Given the description of an element on the screen output the (x, y) to click on. 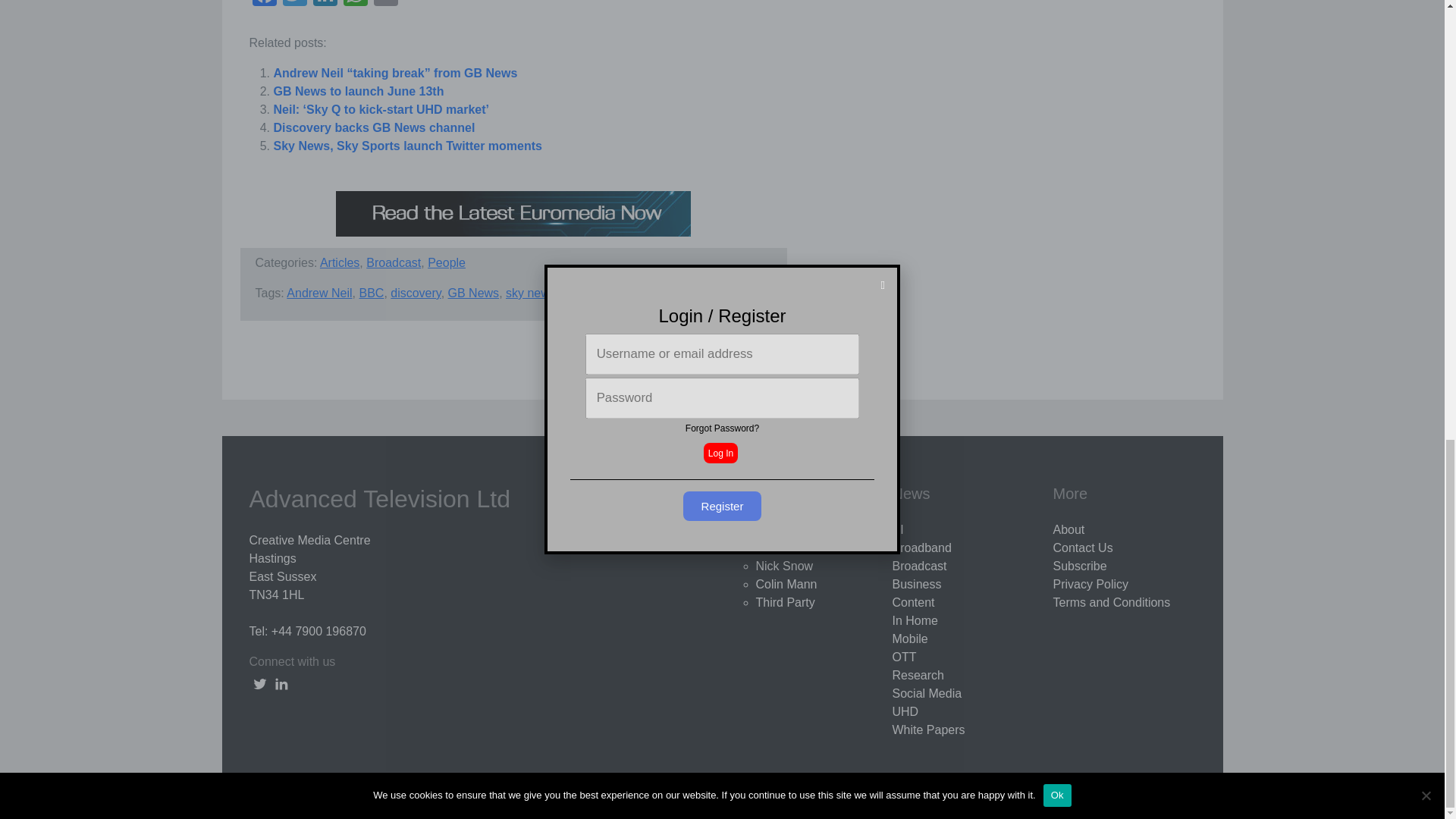
Twitter (293, 4)
Articles (339, 262)
sky news (530, 292)
BBC (371, 292)
People (446, 262)
GB News to launch June 13th (358, 91)
Email (384, 4)
LinkedIn (323, 4)
Twitter (293, 4)
discovery (415, 292)
LinkedIn (323, 4)
Discovery backs GB News channel (373, 127)
Andrew Neil (319, 292)
Sky News, Sky Sports launch Twitter moments (407, 145)
Facebook (263, 4)
